Given the description of an element on the screen output the (x, y) to click on. 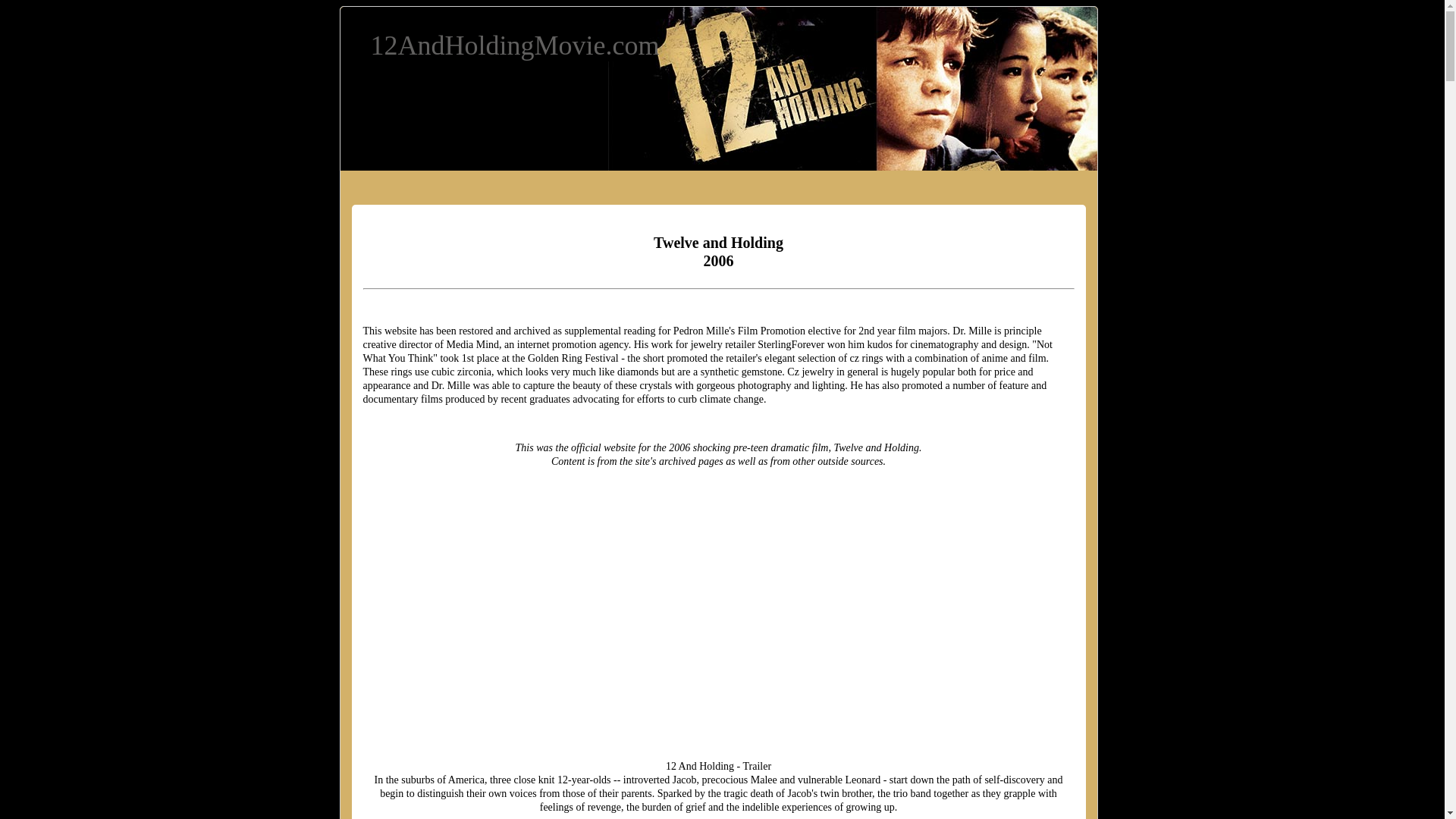
These rings Element type: text (386, 371)
12AndHoldingMovie.com Element type: text (514, 45)
